Given the description of an element on the screen output the (x, y) to click on. 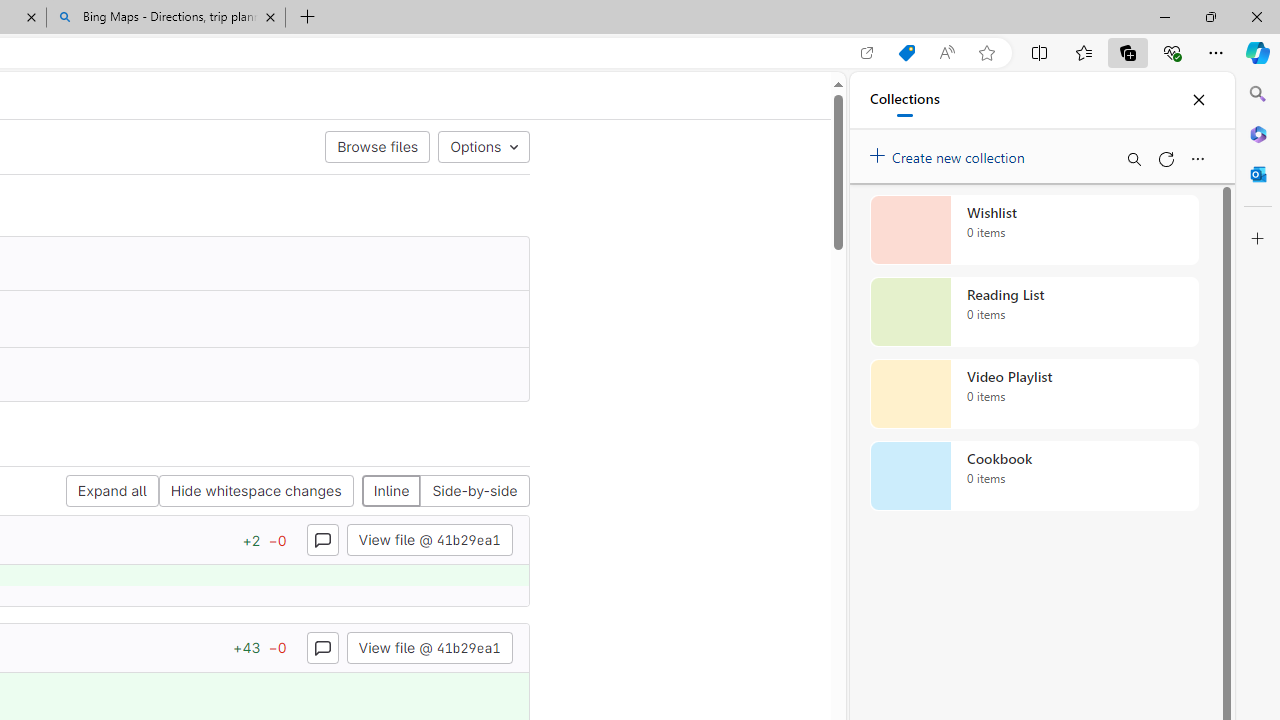
Toggle comments for this file (322, 646)
Cookbook collection, 0 items (1034, 475)
Video Playlist collection, 0 items (1034, 394)
